Given the description of an element on the screen output the (x, y) to click on. 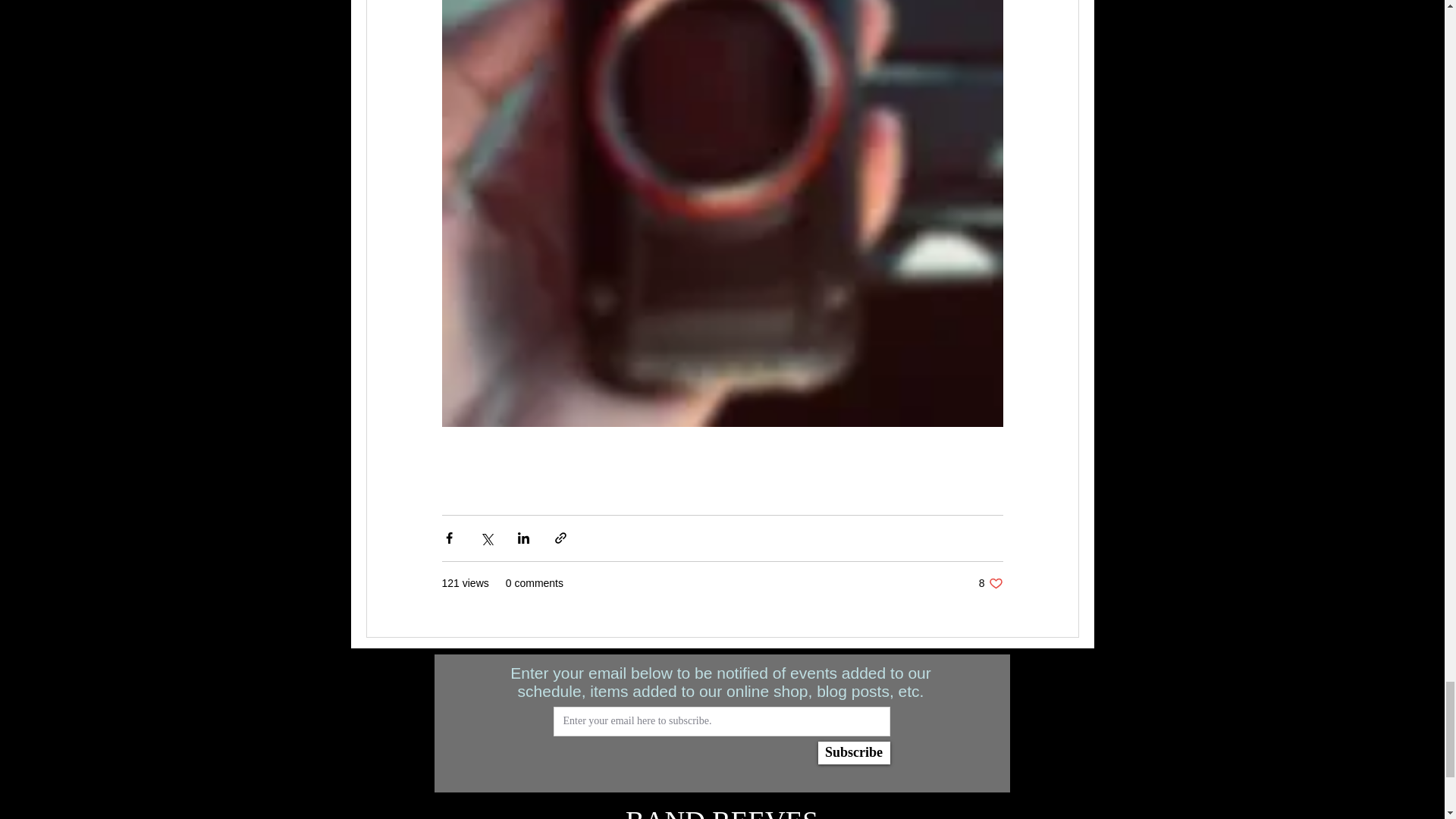
0 comments (534, 583)
BAND REEVES (990, 583)
Subscribe (722, 812)
